Given the description of an element on the screen output the (x, y) to click on. 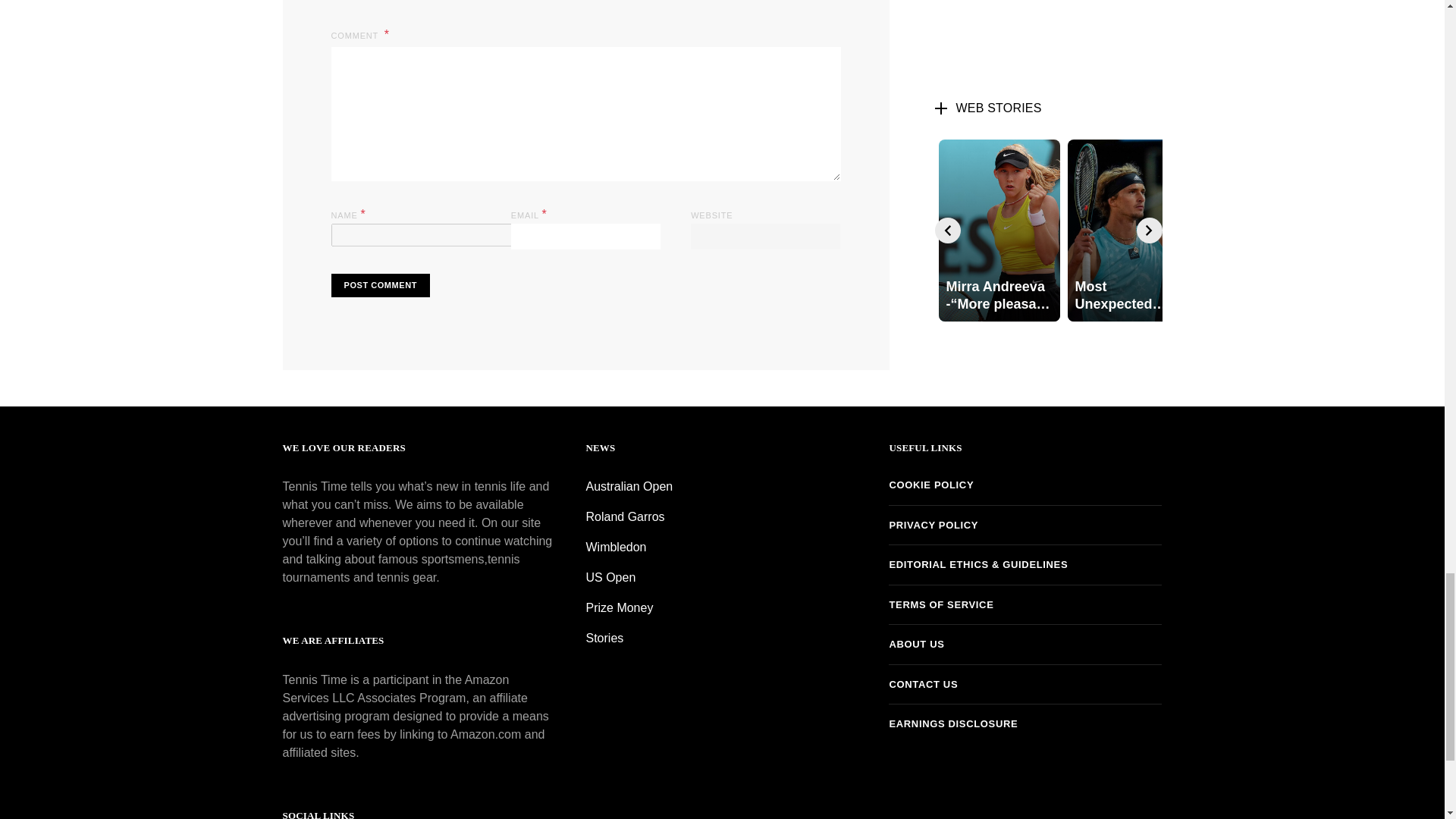
Post Comment (379, 285)
